Given the description of an element on the screen output the (x, y) to click on. 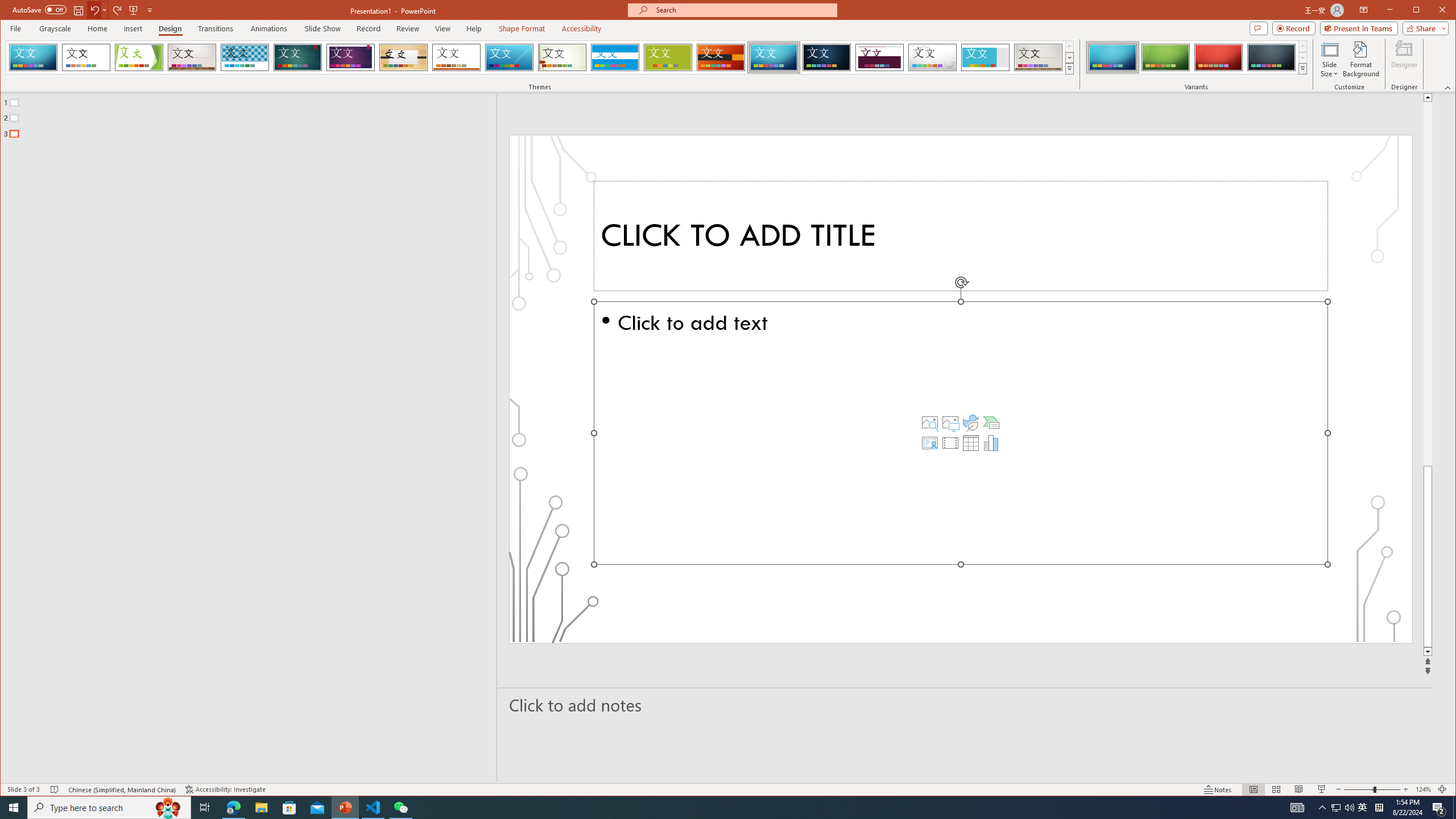
Running applications (707, 807)
Damask (826, 57)
Insert a SmartArt Graphic (991, 422)
Content Placeholder (960, 433)
Themes (1069, 68)
